Given the description of an element on the screen output the (x, y) to click on. 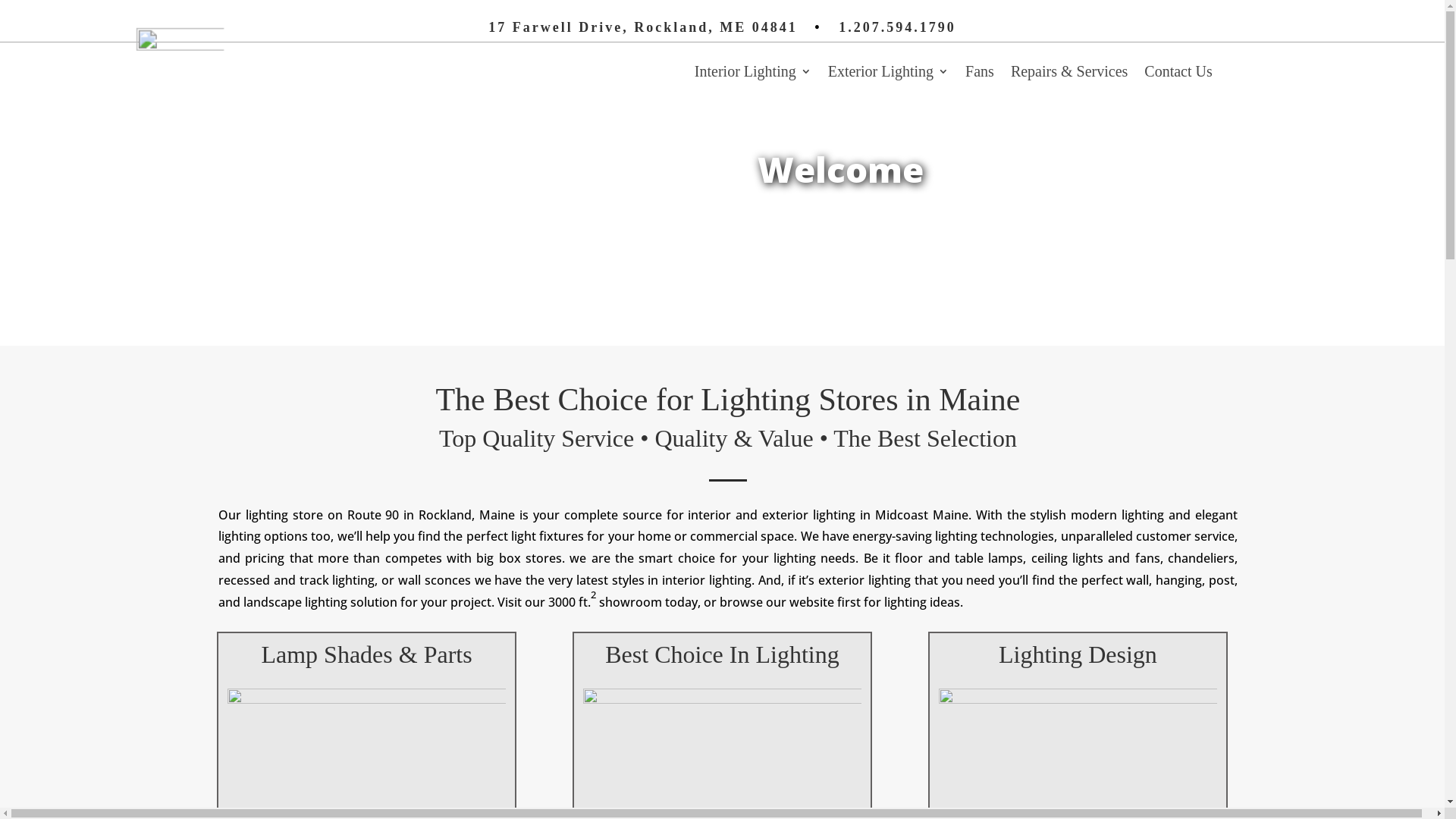
Exterior Lighting Element type: text (888, 73)
Repairs & Services Element type: text (1068, 73)
Fans Element type: text (979, 73)
1.207.594.1790 Element type: text (897, 26)
17 Farwell Drive, Rockland, ME 04841 Element type: text (642, 26)
Contact Us Element type: text (1177, 73)
Interior Lighting Element type: text (752, 73)
